Given the description of an element on the screen output the (x, y) to click on. 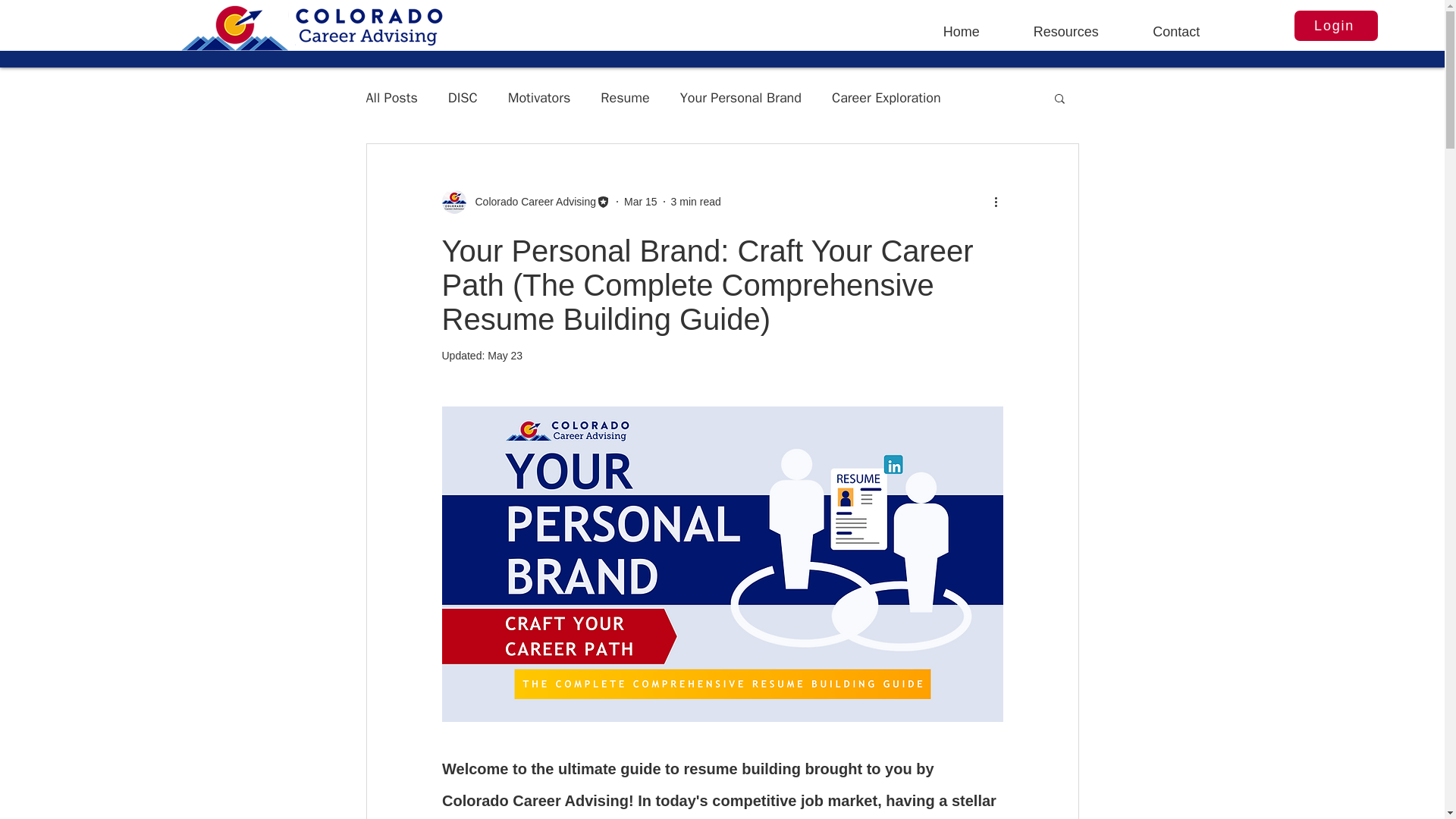
Login (1335, 25)
Career Exploration (885, 97)
All Posts (390, 97)
Resume (624, 97)
DISC (462, 97)
Colorado Career Advising (530, 201)
Your Personal Brand (740, 97)
Home (961, 24)
3 min read (695, 201)
Motivators (539, 97)
Mar 15 (641, 201)
Colorado Career Advising (525, 201)
May 23 (504, 355)
